Given the description of an element on the screen output the (x, y) to click on. 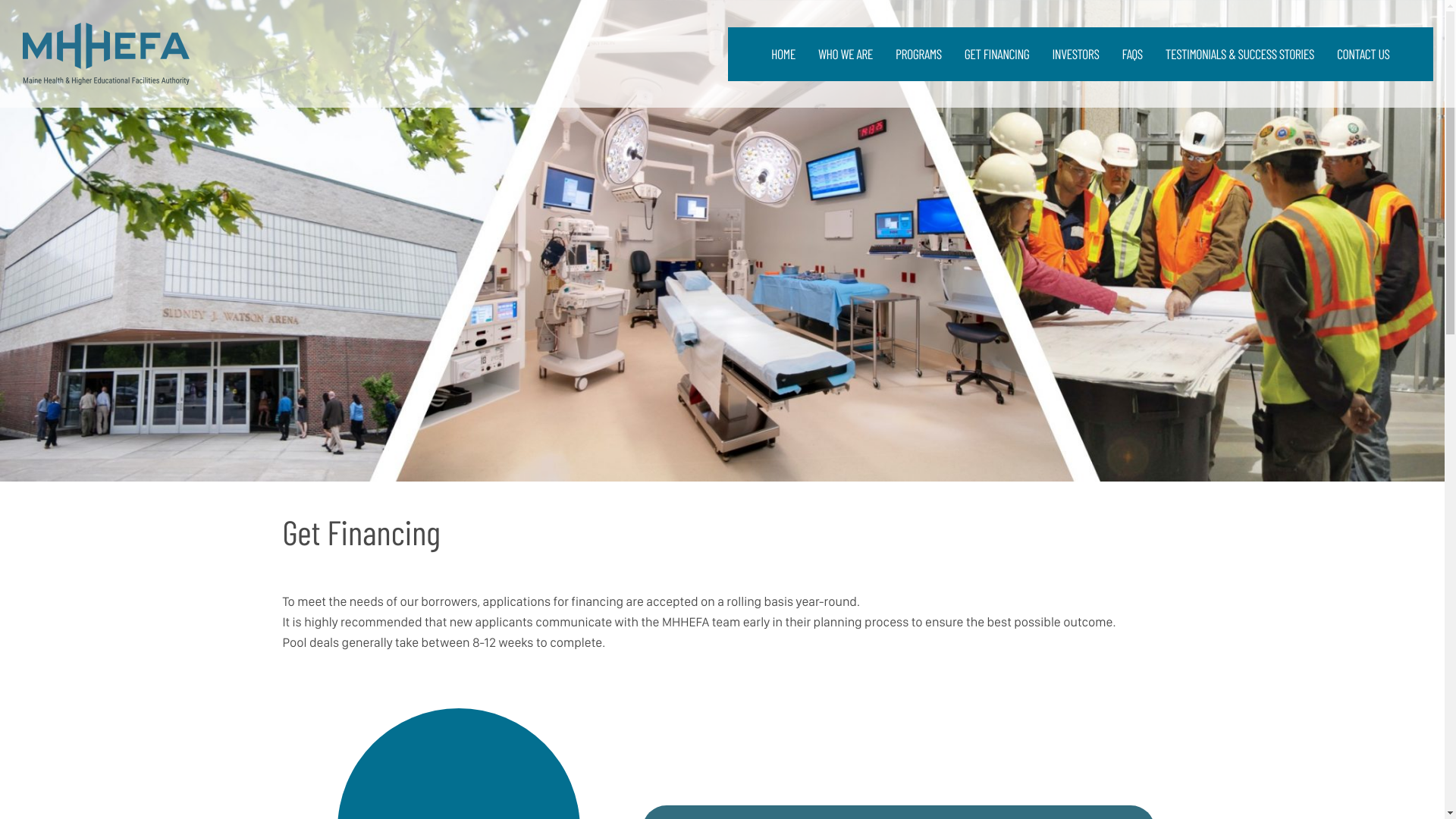
INVESTORS (1075, 53)
CONTACT US (1362, 53)
FAQS (1131, 53)
GET FINANCING (997, 53)
PROGRAMS (918, 53)
WHO WE ARE (844, 53)
HOME (783, 53)
